Given the description of an element on the screen output the (x, y) to click on. 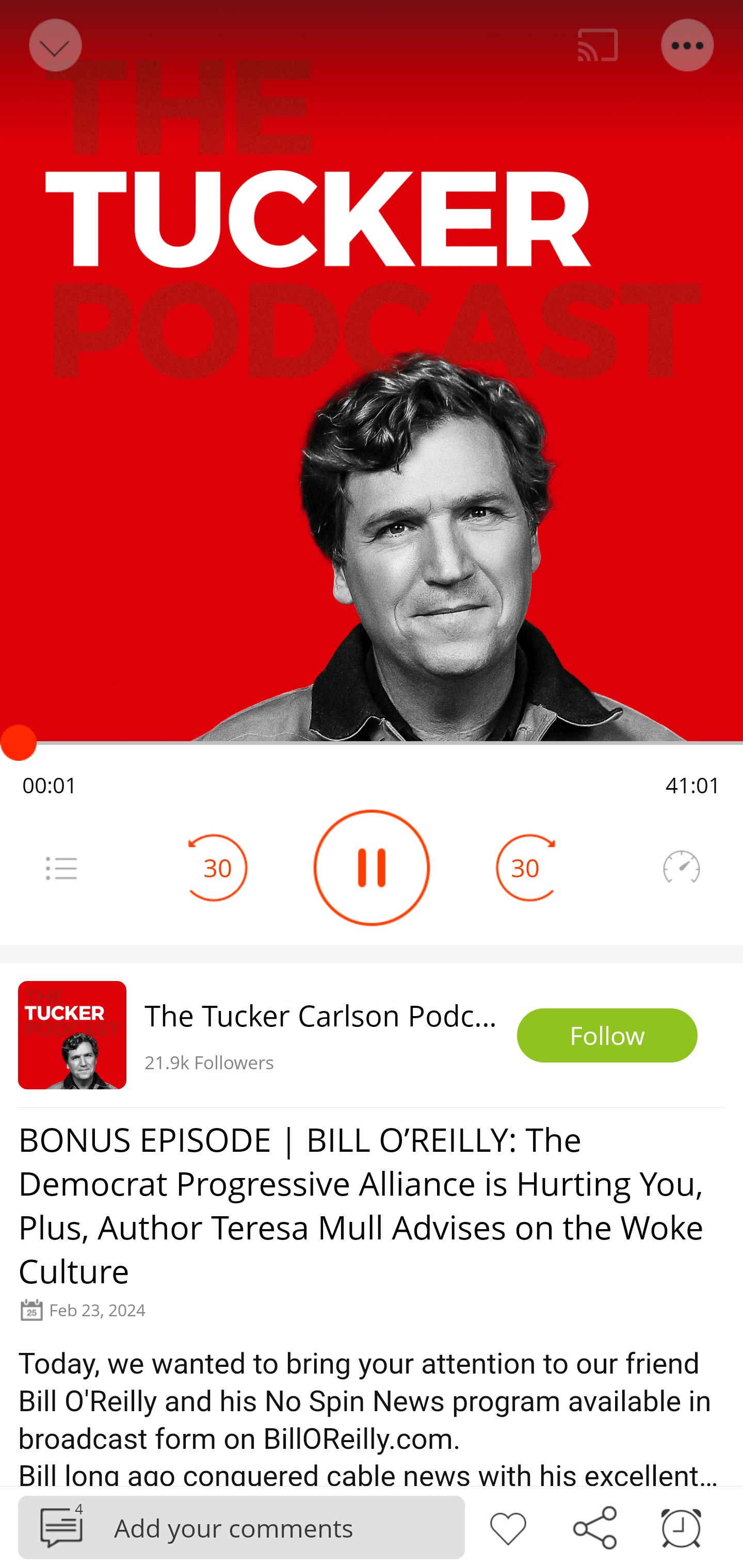
Back (53, 45)
Cast. Disconnected (597, 45)
Menu (688, 45)
Play (371, 867)
30 Seek Backward (217, 867)
30 Seek Forward (525, 867)
Menu (60, 867)
Speedometer (681, 867)
The Tucker Carlson Podcast 21.9k Followers Follow (371, 1034)
Follow (607, 1035)
Like (508, 1526)
Share (594, 1526)
Sleep timer (681, 1526)
Podbean 4 Add your comments (241, 1526)
